Given the description of an element on the screen output the (x, y) to click on. 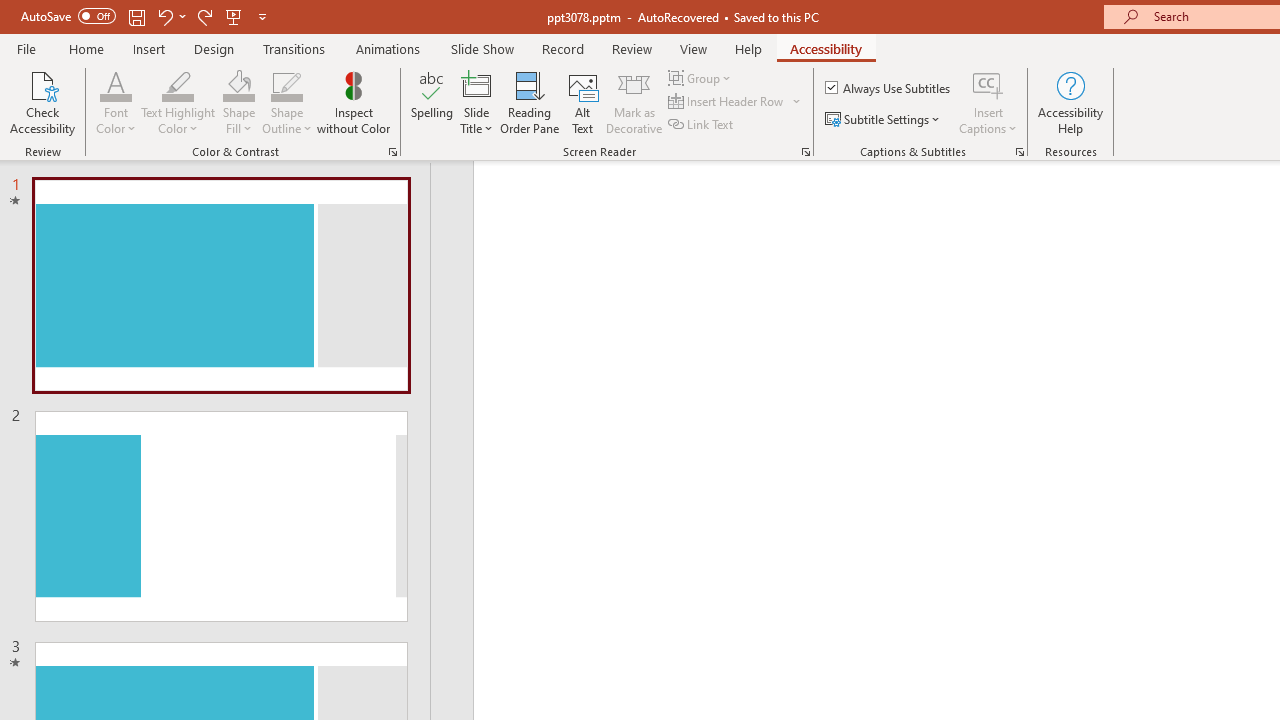
Screen Reader (805, 151)
Inspect without Color (353, 102)
